Given the description of an element on the screen output the (x, y) to click on. 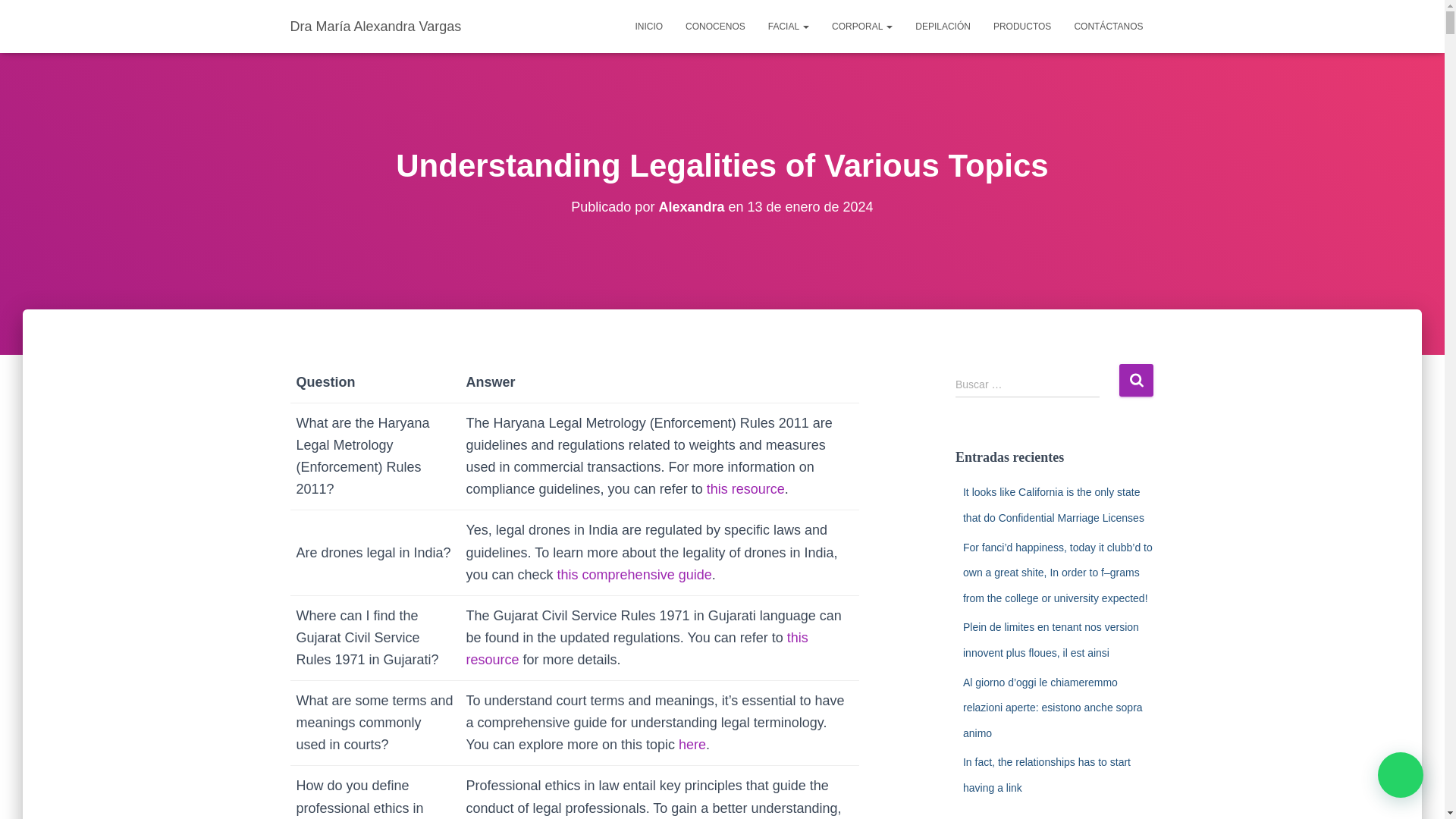
Conocenos (715, 26)
Buscar (1136, 379)
this comprehensive guide (634, 574)
Inicio (648, 26)
INICIO (648, 26)
Buscar (1136, 379)
here (692, 744)
FACIAL (789, 26)
Corporal (862, 26)
